Given the description of an element on the screen output the (x, y) to click on. 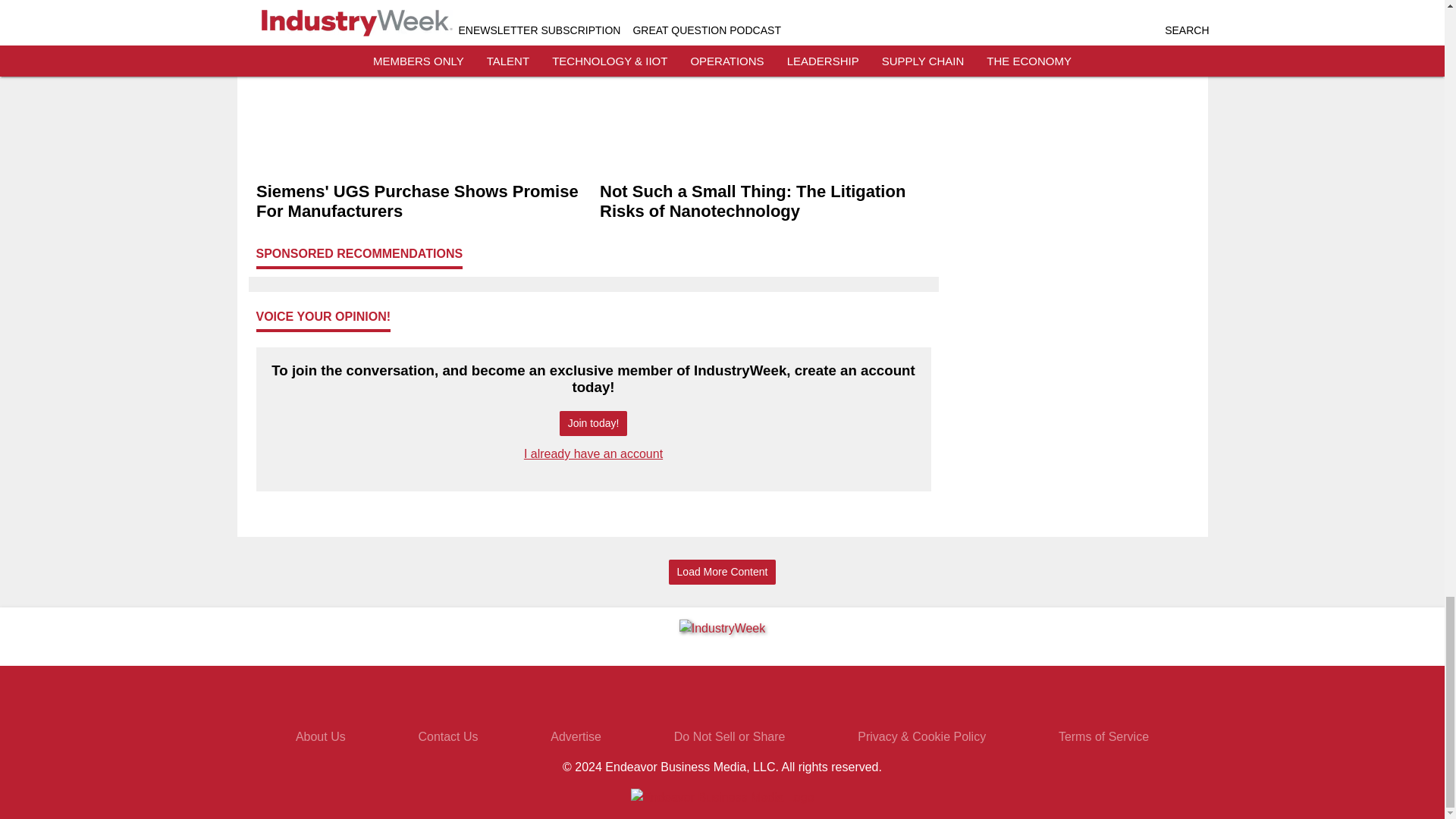
Join today! (593, 423)
Siemens' UGS Purchase Shows Promise For Manufacturers (422, 201)
I already have an account (593, 453)
